Given the description of an element on the screen output the (x, y) to click on. 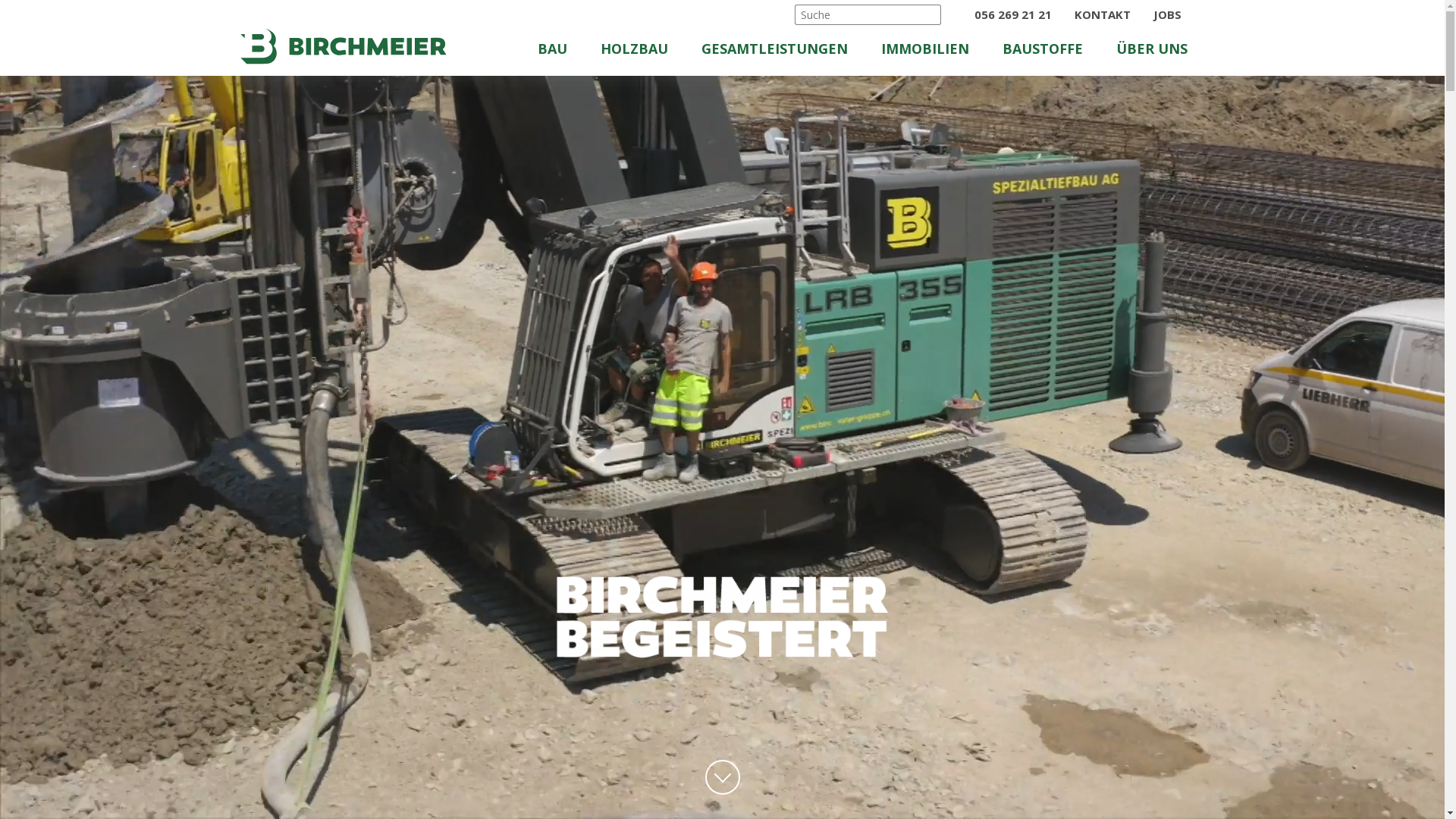
BAUSTOFFE Element type: text (1045, 52)
BAU Element type: text (567, 52)
IMMOBILIEN Element type: text (929, 52)
HOLZBAU Element type: text (648, 52)
GESAMTLEISTUNGEN Element type: text (784, 52)
KONTAKT Element type: text (1103, 13)
JOBS Element type: text (1167, 13)
Home Element type: hover (342, 45)
056 269 21 21 Element type: text (1010, 13)
